Given the description of an element on the screen output the (x, y) to click on. 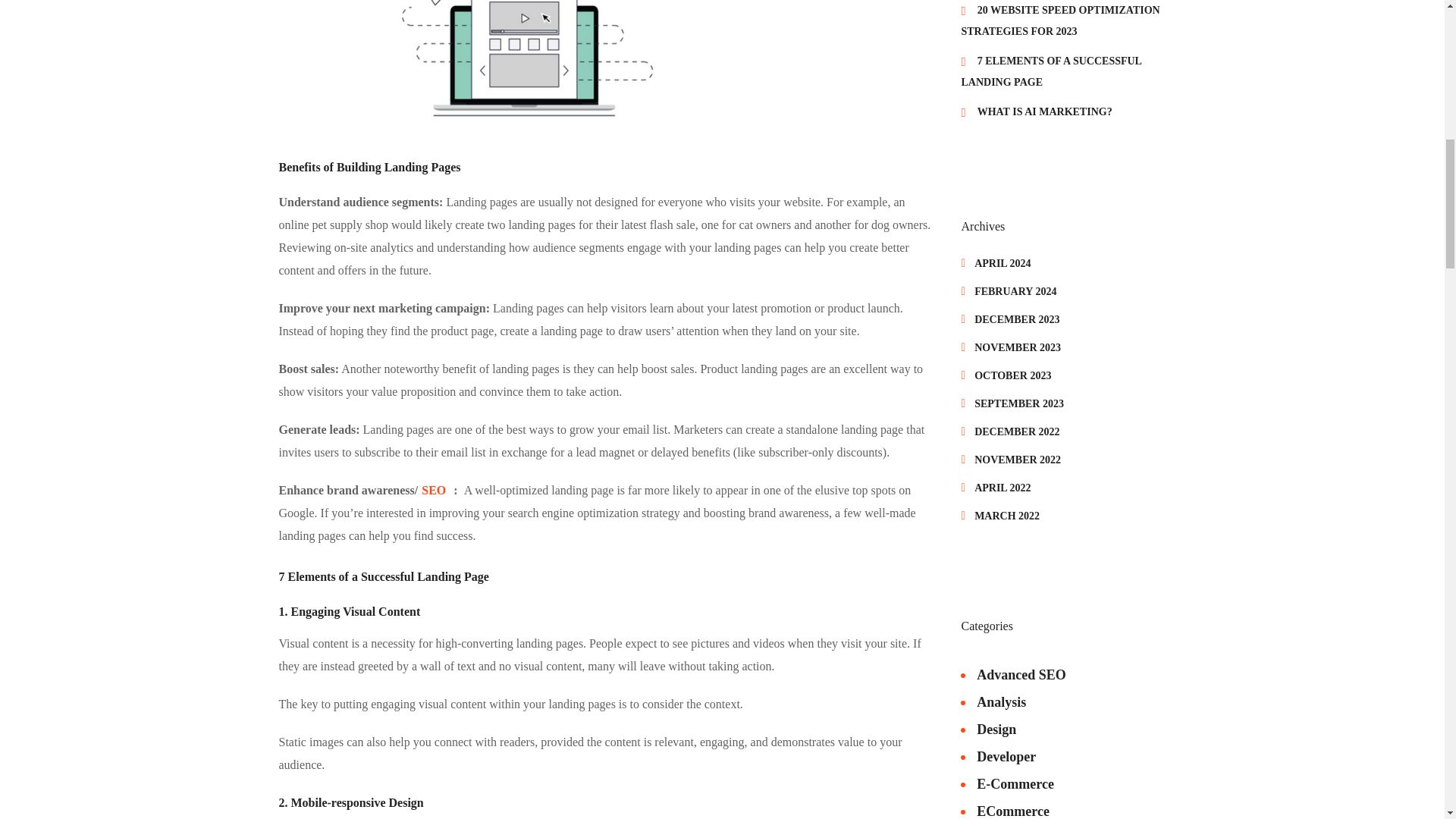
SEO (433, 490)
